Given the description of an element on the screen output the (x, y) to click on. 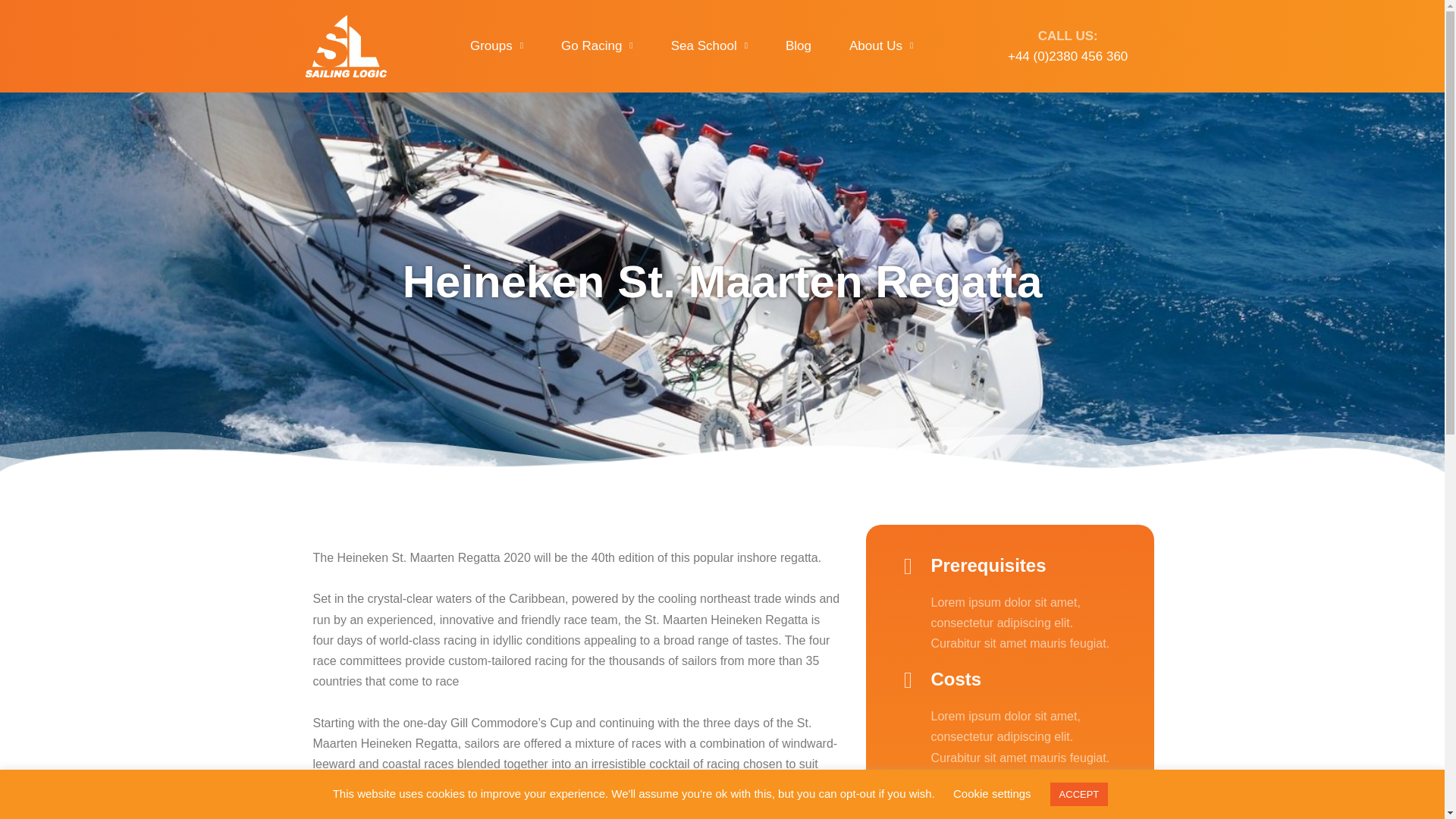
Go Racing (596, 45)
Groups (496, 45)
Sea School (709, 45)
Blog (798, 45)
About Us (881, 45)
